Given the description of an element on the screen output the (x, y) to click on. 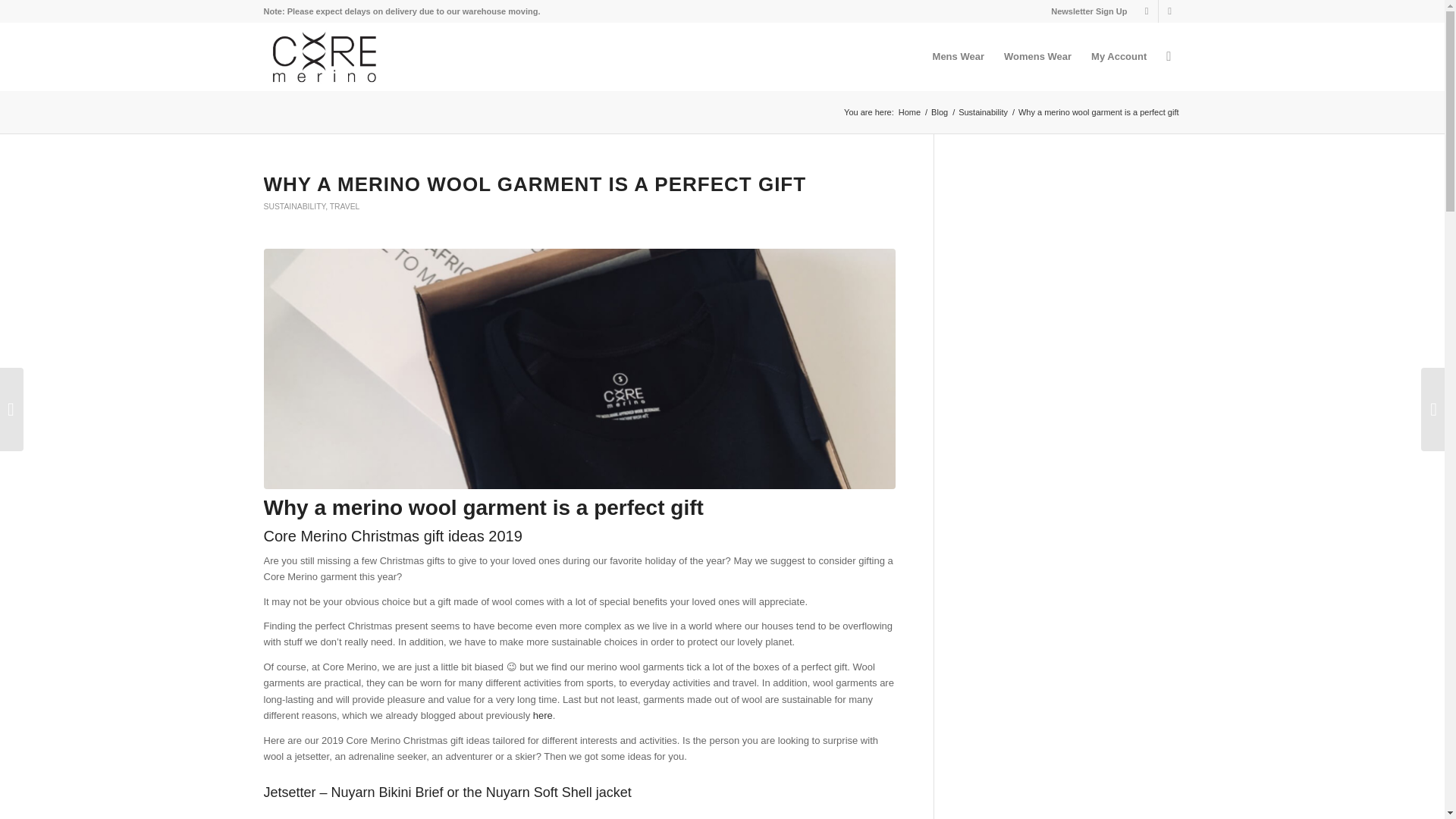
Home (909, 112)
Facebook (1169, 11)
Blog (939, 112)
TRAVEL (344, 206)
Mens Wear (958, 56)
Nuyarn Soft Shell jacket (558, 792)
Instagram (1146, 11)
My Account (1118, 56)
Core Merino (909, 112)
